Given the description of an element on the screen output the (x, y) to click on. 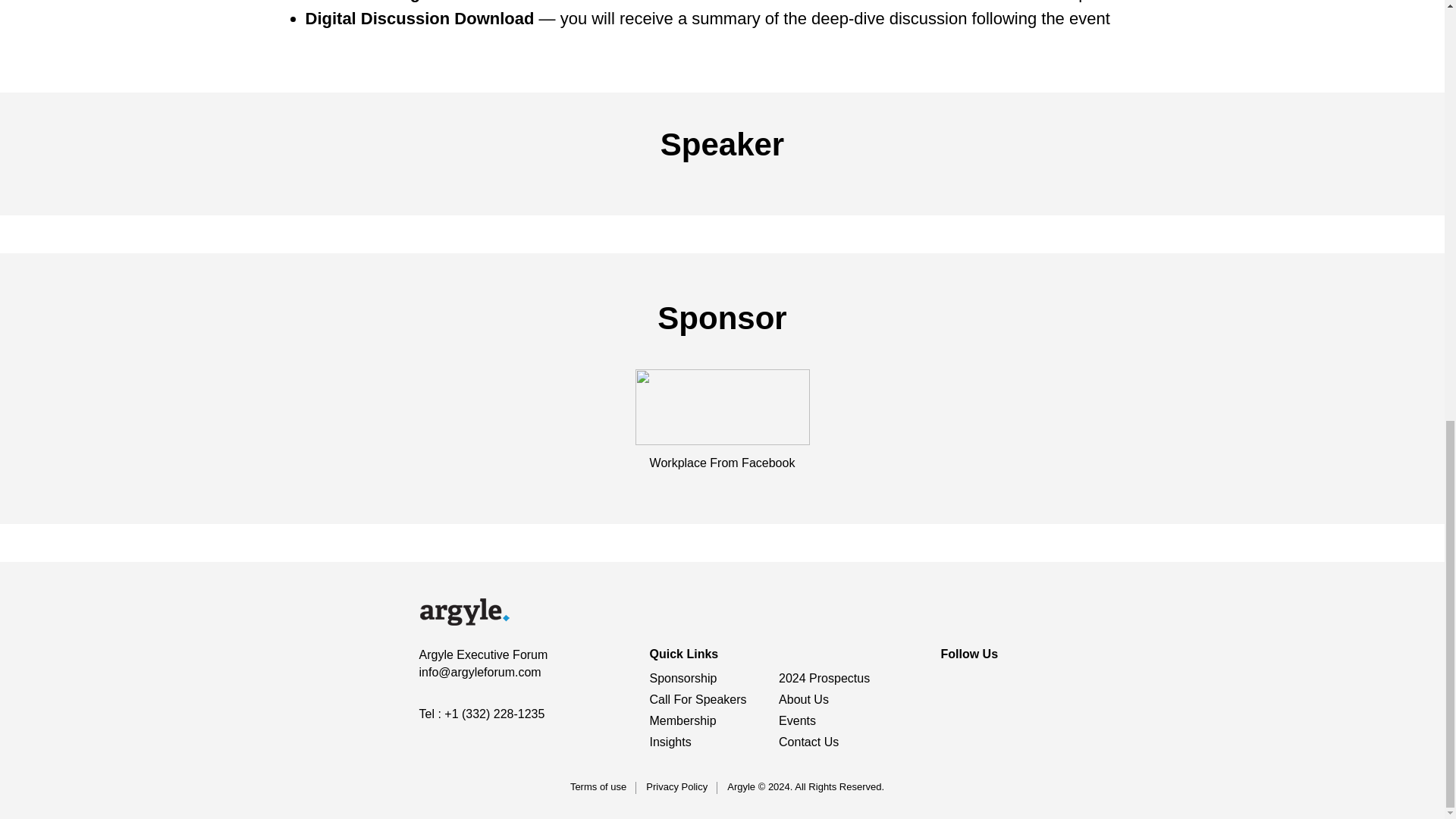
Sponsorship (682, 677)
Workplace From Facebook (721, 462)
2024 Prospectus (823, 677)
Call For Speakers (697, 698)
Insights (669, 741)
Membership (682, 720)
Events (796, 720)
Privacy Policy (676, 786)
Contact Us (808, 741)
About Us (803, 698)
